Given the description of an element on the screen output the (x, y) to click on. 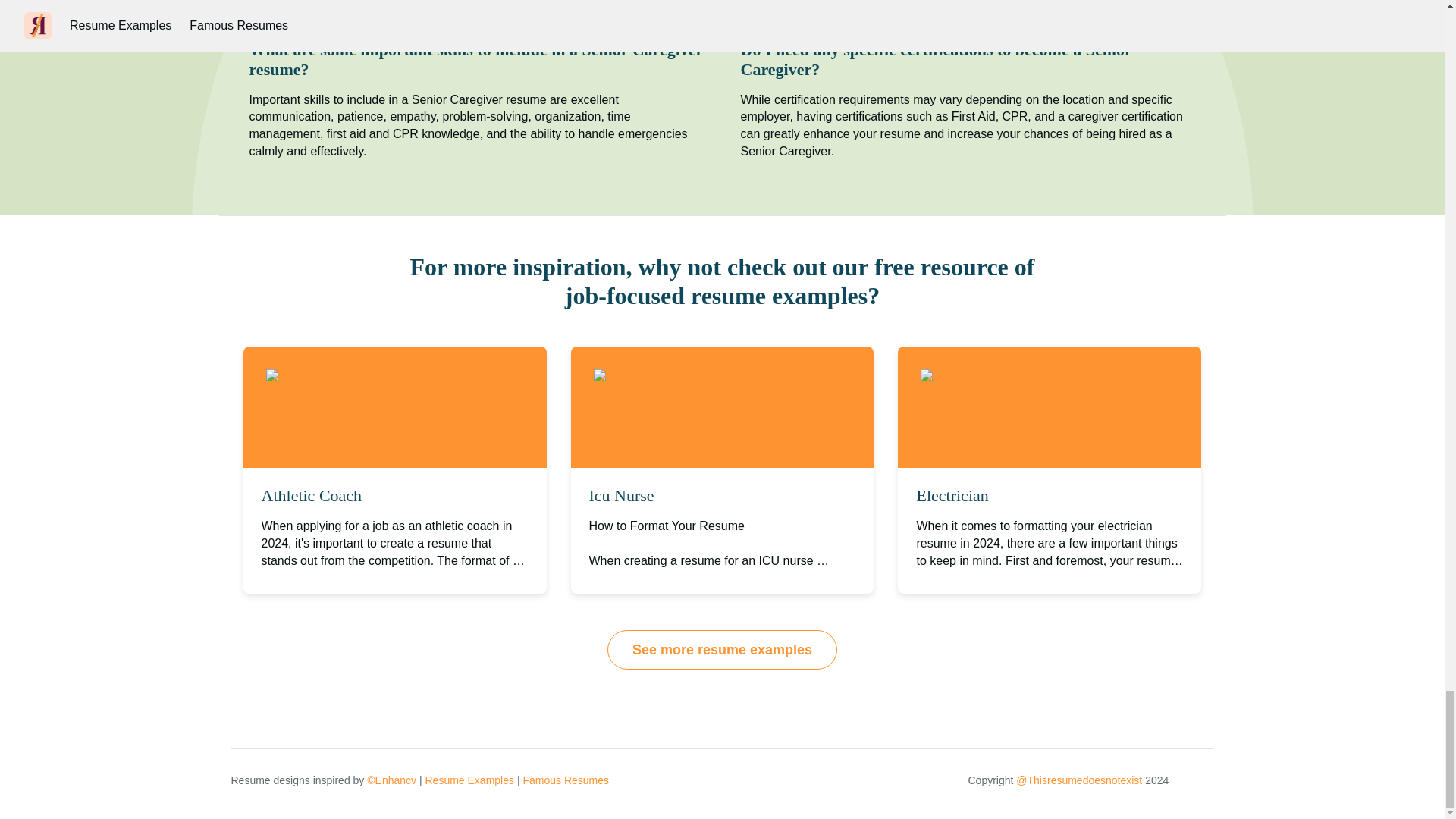
Icu Nurse's resume (662, 376)
Athletic Coach's resume (347, 376)
Resume Examples (469, 779)
Electrician's resume (991, 376)
See more resume examples (722, 649)
Famous Resumes (565, 779)
